Given the description of an element on the screen output the (x, y) to click on. 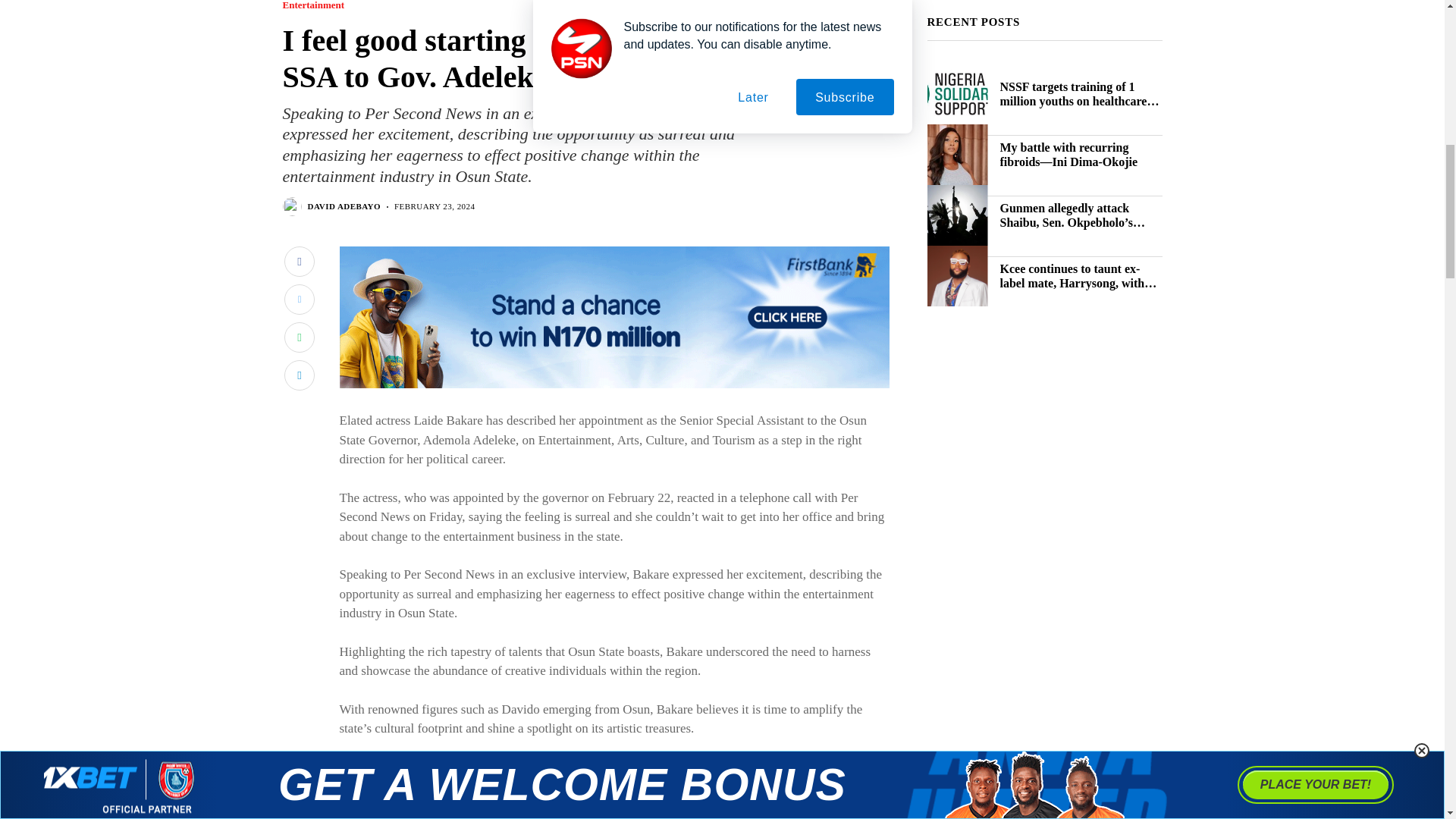
Posts by David Adebayo (344, 206)
